Given the description of an element on the screen output the (x, y) to click on. 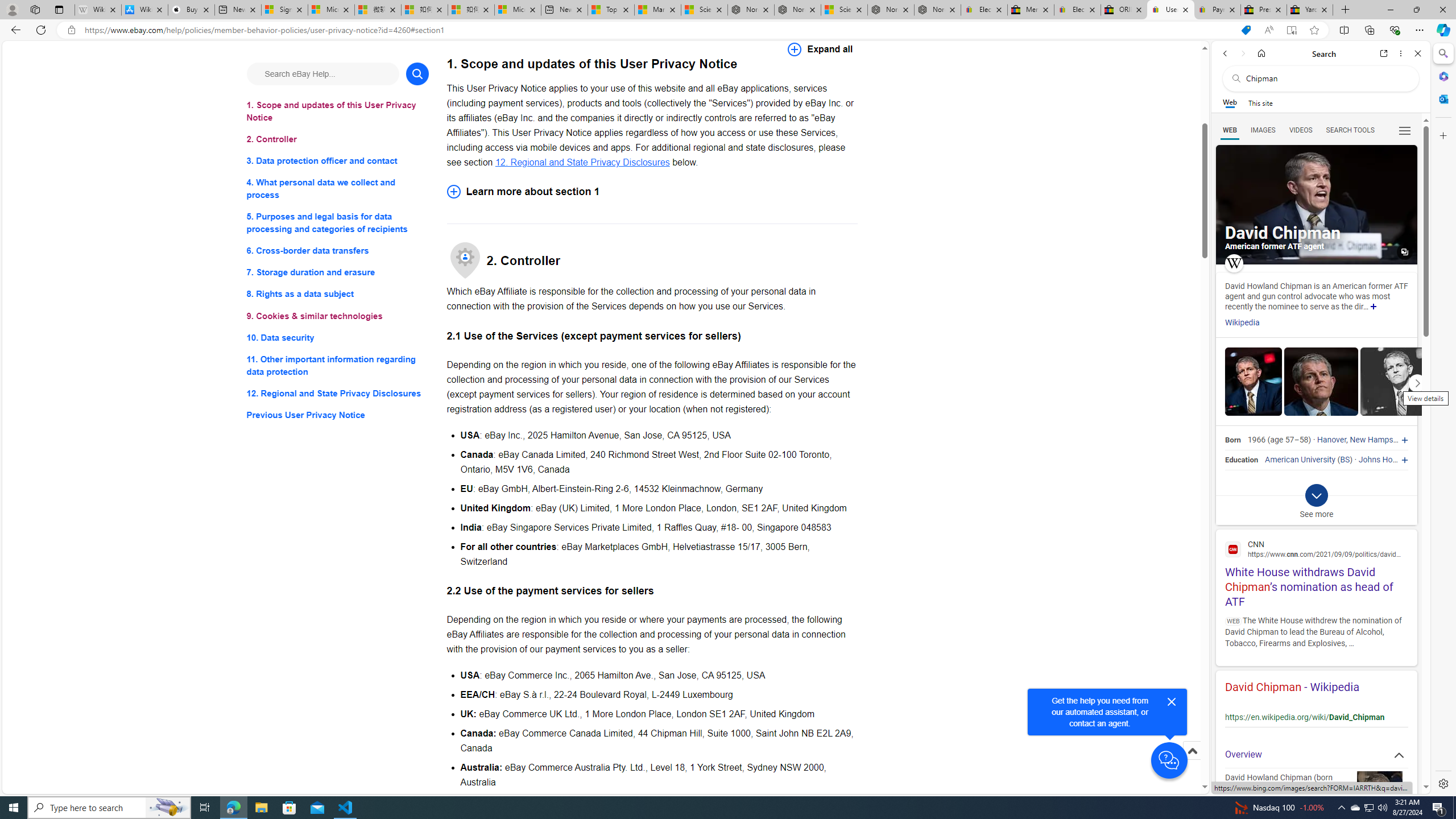
Previous User Privacy Notice (337, 414)
